Given the description of an element on the screen output the (x, y) to click on. 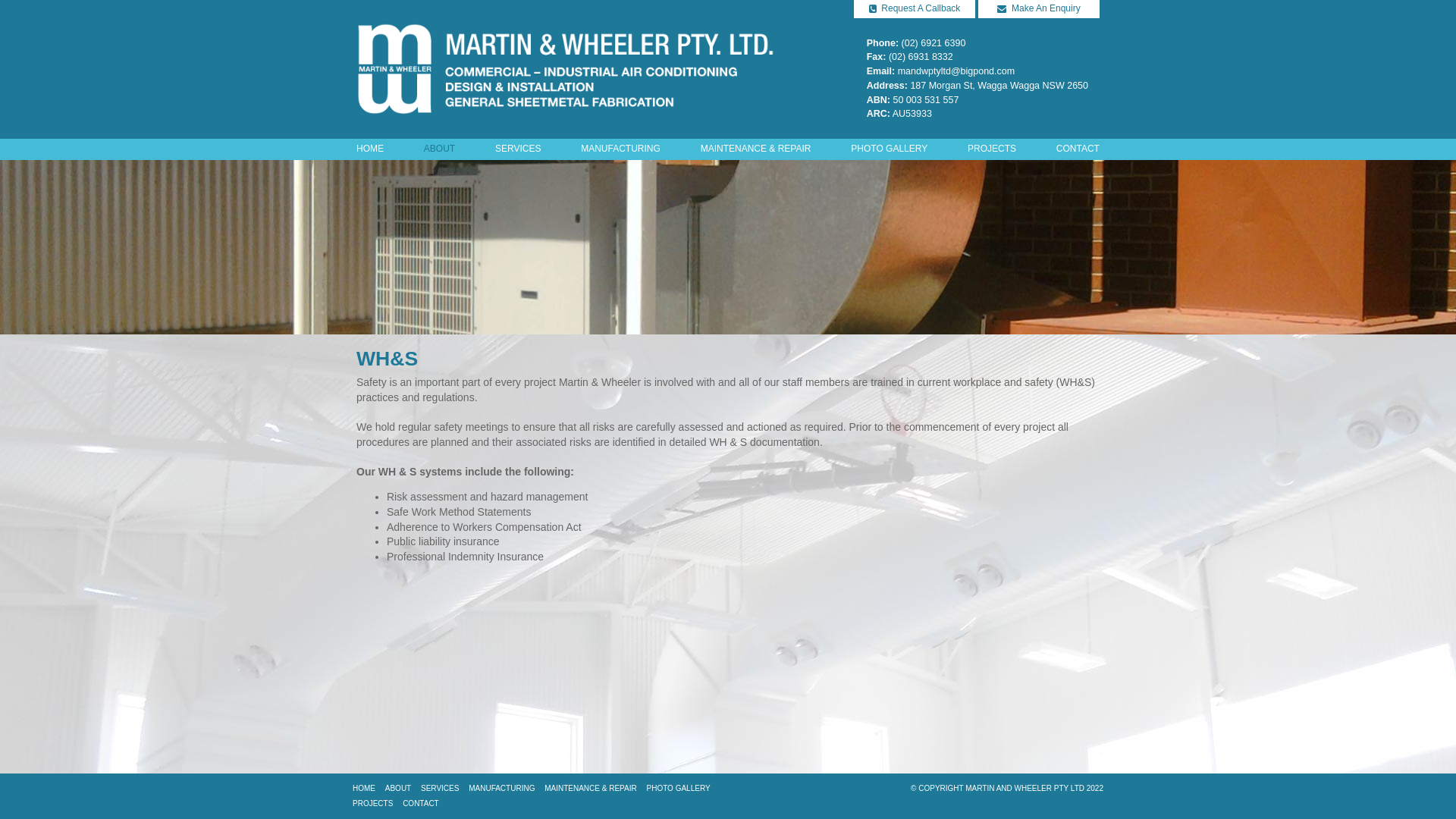
PROJECTS Element type: text (372, 803)
CONTACT Element type: text (420, 803)
MAINTENANCE & REPAIR Element type: text (755, 149)
HOME Element type: text (363, 788)
HOME Element type: text (369, 149)
Email: mandwptyltd@bigpond.com Element type: text (940, 70)
MAINTENANCE & REPAIR Element type: text (590, 788)
CONTACT Element type: text (1077, 149)
  Make An Enquiry Element type: text (1038, 9)
SERVICES Element type: text (517, 149)
MANUFACTURING Element type: text (501, 788)
  Request A Callback Element type: text (914, 9)
ABOUT Element type: text (439, 149)
ABOUT Element type: text (397, 788)
SERVICES Element type: text (439, 788)
PHOTO GALLERY Element type: text (677, 788)
PROJECTS Element type: text (991, 149)
PHOTO GALLERY Element type: text (888, 149)
MANUFACTURING Element type: text (620, 149)
